Given the description of an element on the screen output the (x, y) to click on. 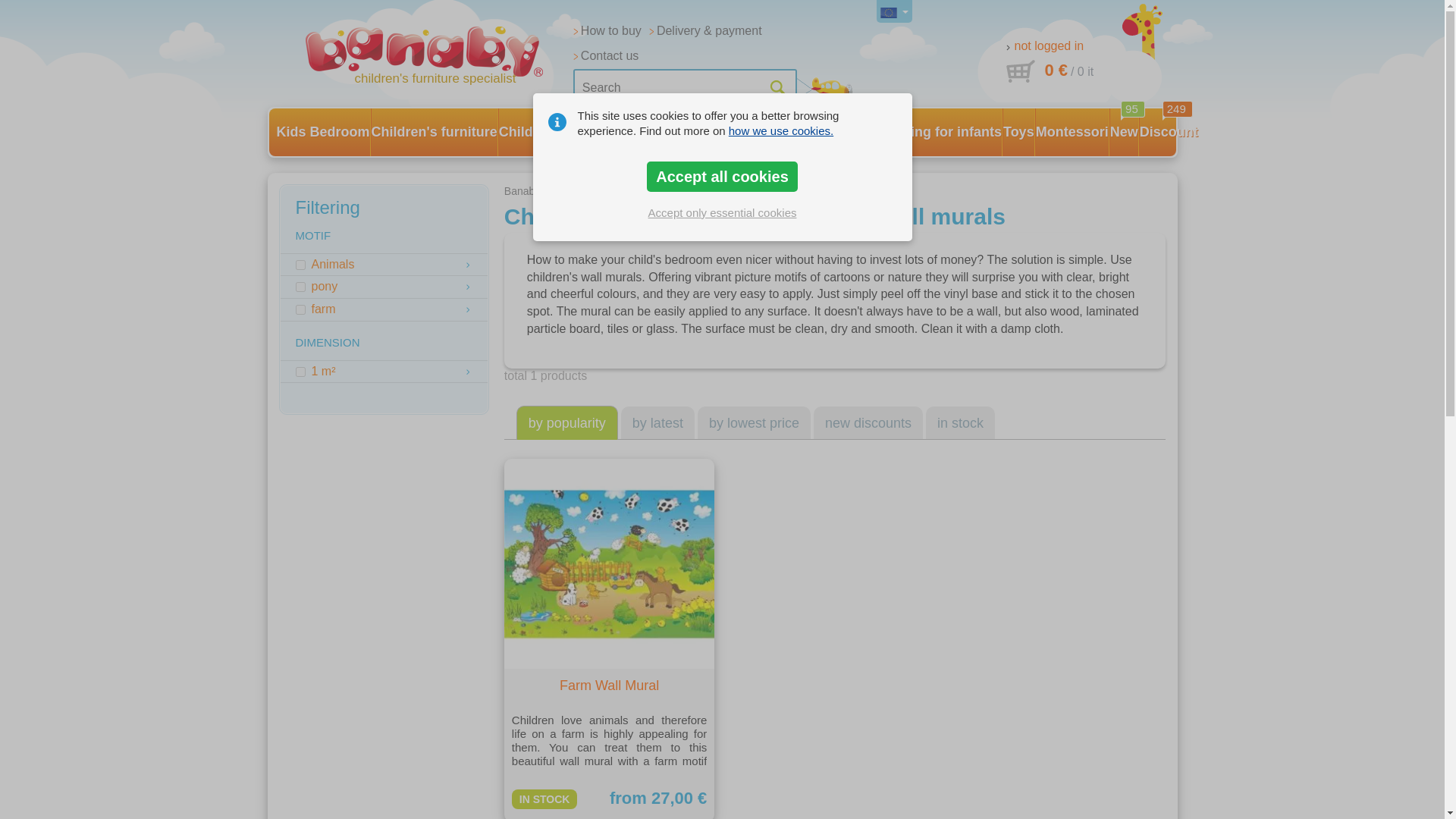
back to root - banaby.eu (434, 56)
Search (684, 87)
children's furniture specialist (434, 56)
not logged in (1044, 46)
Contact us (606, 56)
How to buy (607, 31)
Search (684, 87)
OK (777, 87)
Kids Bedroom (322, 132)
